Given the description of an element on the screen output the (x, y) to click on. 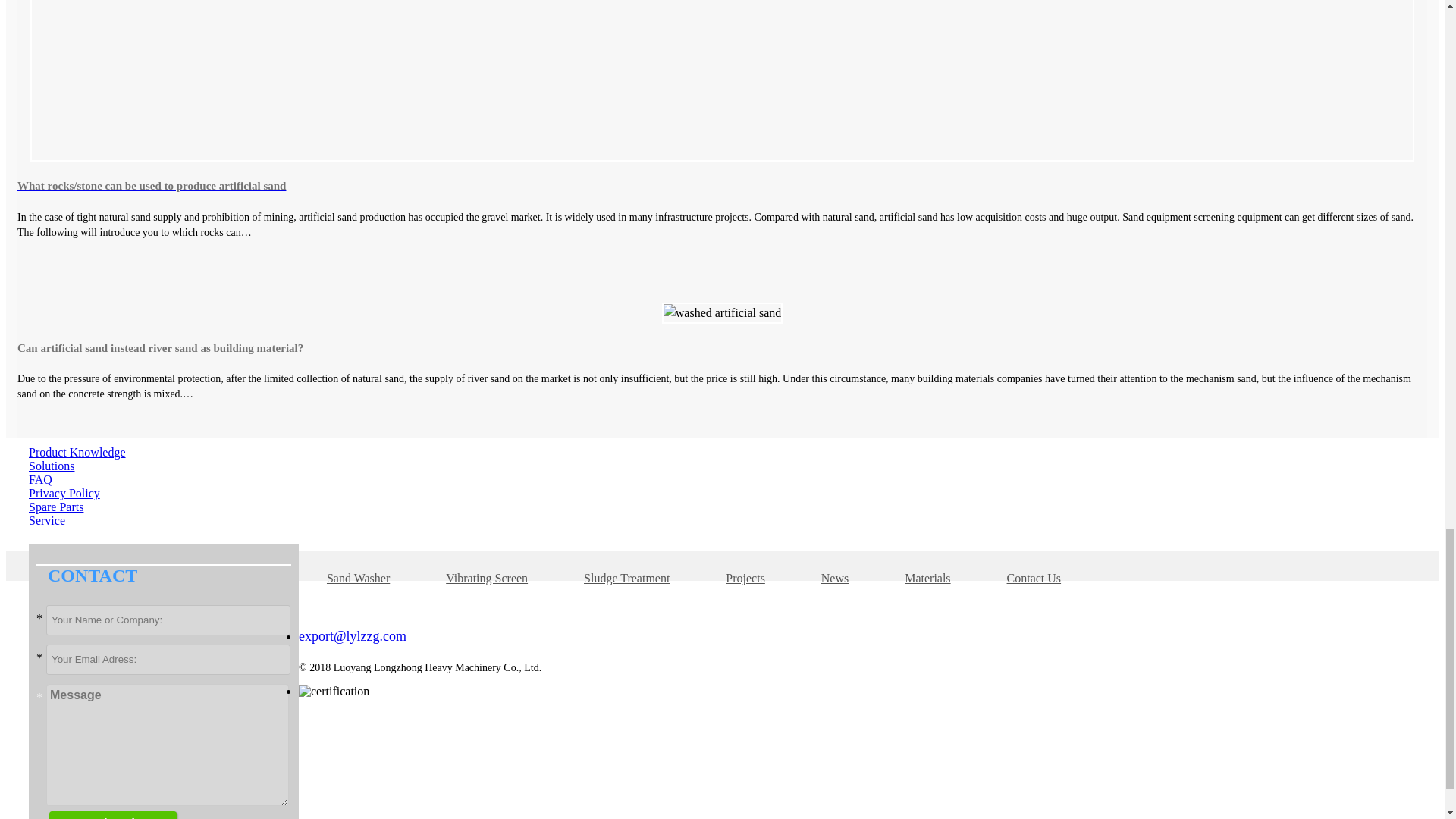
Vibrating Screen (486, 577)
Solutions (51, 465)
Product Knowledge (77, 451)
Submit! (112, 815)
Sand Washer (358, 577)
Service (47, 520)
FAQ (40, 479)
Spare Parts (55, 506)
Privacy Policy (64, 492)
Can artificial sand instead river sand as building material? (721, 348)
Submit! (112, 815)
